Given the description of an element on the screen output the (x, y) to click on. 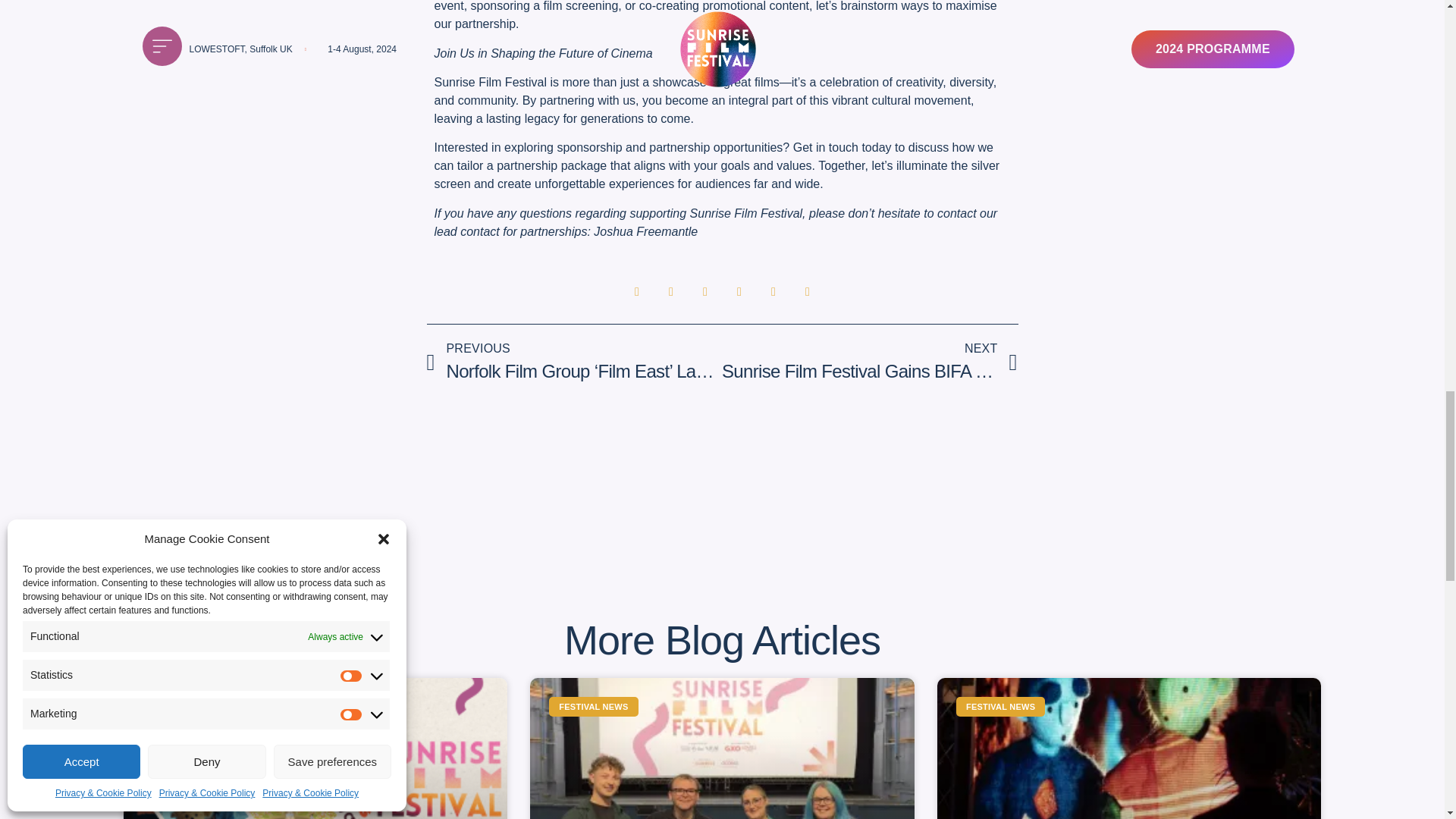
Joshua Freemantle (645, 231)
